Given the description of an element on the screen output the (x, y) to click on. 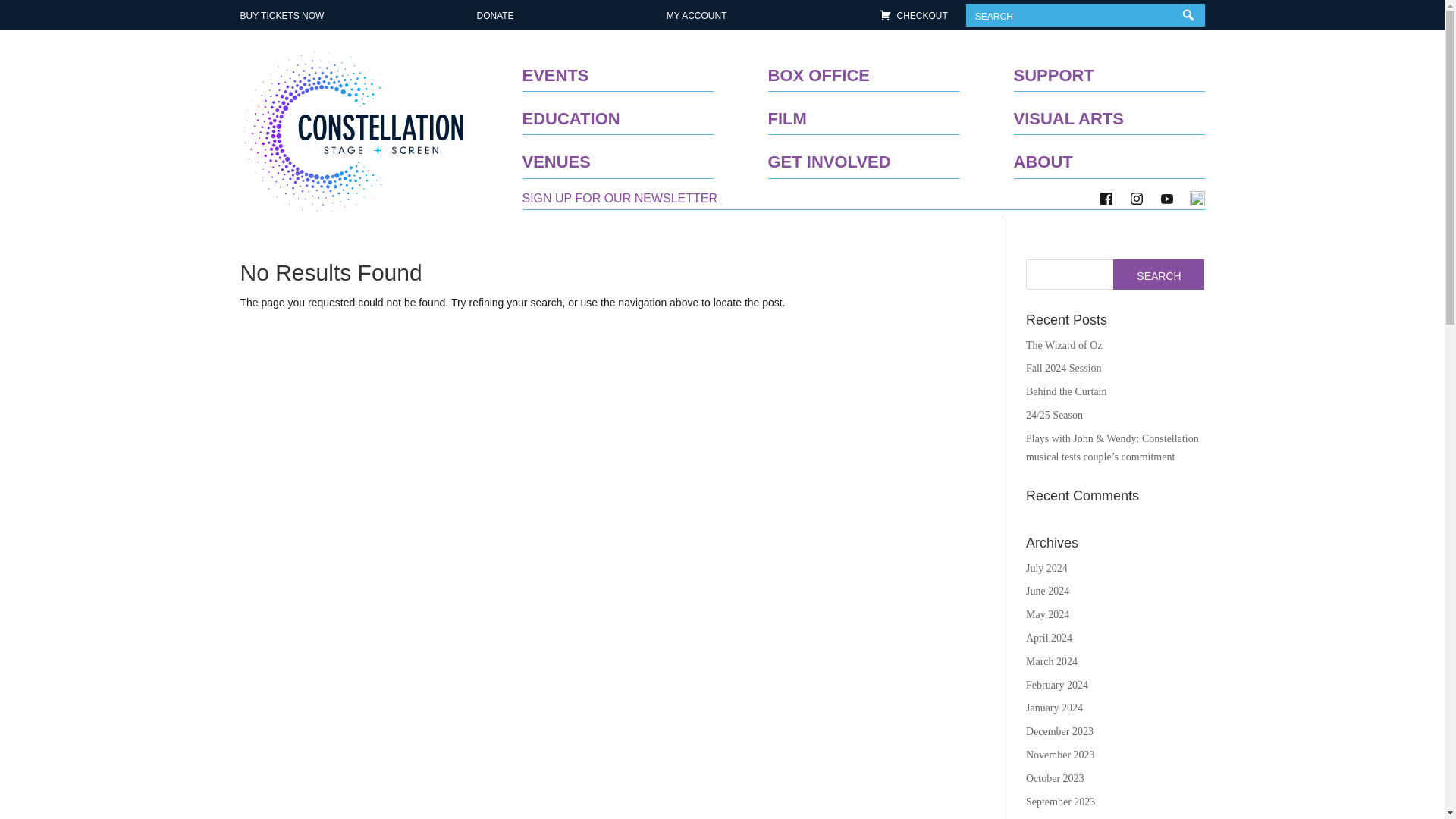
EVENTS (554, 69)
BUY TICKETS NOW (281, 15)
July 2024 (1046, 568)
Search (1158, 274)
The Wizard of Oz (1064, 345)
May 2024 (1047, 614)
Search (1158, 274)
FILM (786, 112)
ABOUT (1042, 156)
VISUAL ARTS (1067, 112)
